Given the description of an element on the screen output the (x, y) to click on. 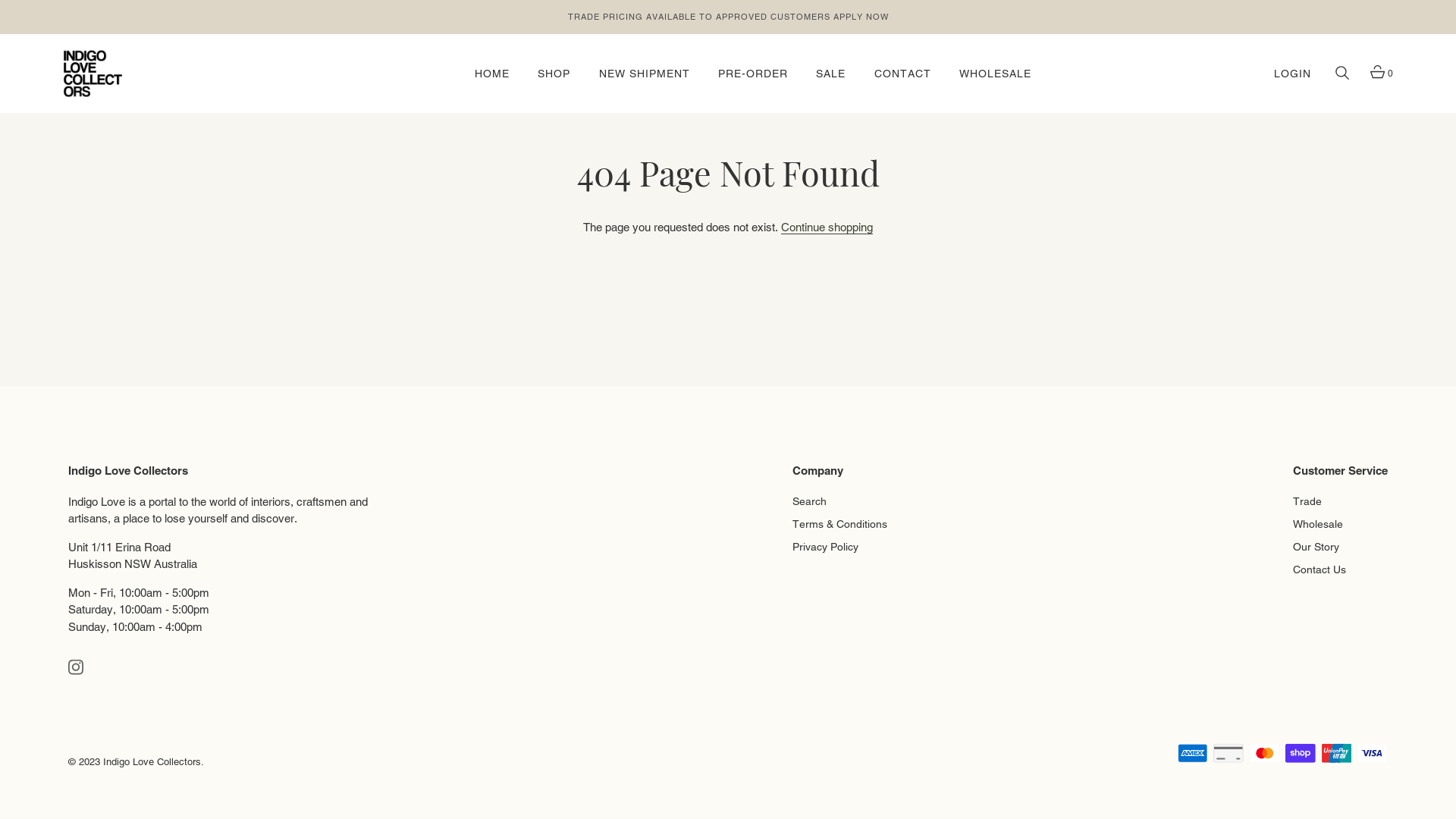
NEW SHIPMENT Element type: text (643, 73)
Contact Us Element type: text (1319, 566)
LOGIN Element type: text (1292, 73)
WHOLESALE Element type: text (995, 73)
Trade Element type: text (1306, 498)
Privacy Policy Element type: text (825, 543)
Our Story Element type: text (1315, 543)
HOME Element type: text (491, 73)
CONTACT Element type: text (902, 73)
SALE Element type: text (830, 73)
SHOP Element type: text (553, 73)
Search Element type: text (809, 498)
Instagram Element type: text (75, 665)
Continue shopping Element type: text (826, 227)
Wholesale Element type: text (1317, 521)
Terms & Conditions Element type: text (839, 521)
PRE-ORDER Element type: text (753, 73)
Indigo Love Collectors Element type: text (151, 760)
0 Element type: text (1376, 73)
